Given the description of an element on the screen output the (x, y) to click on. 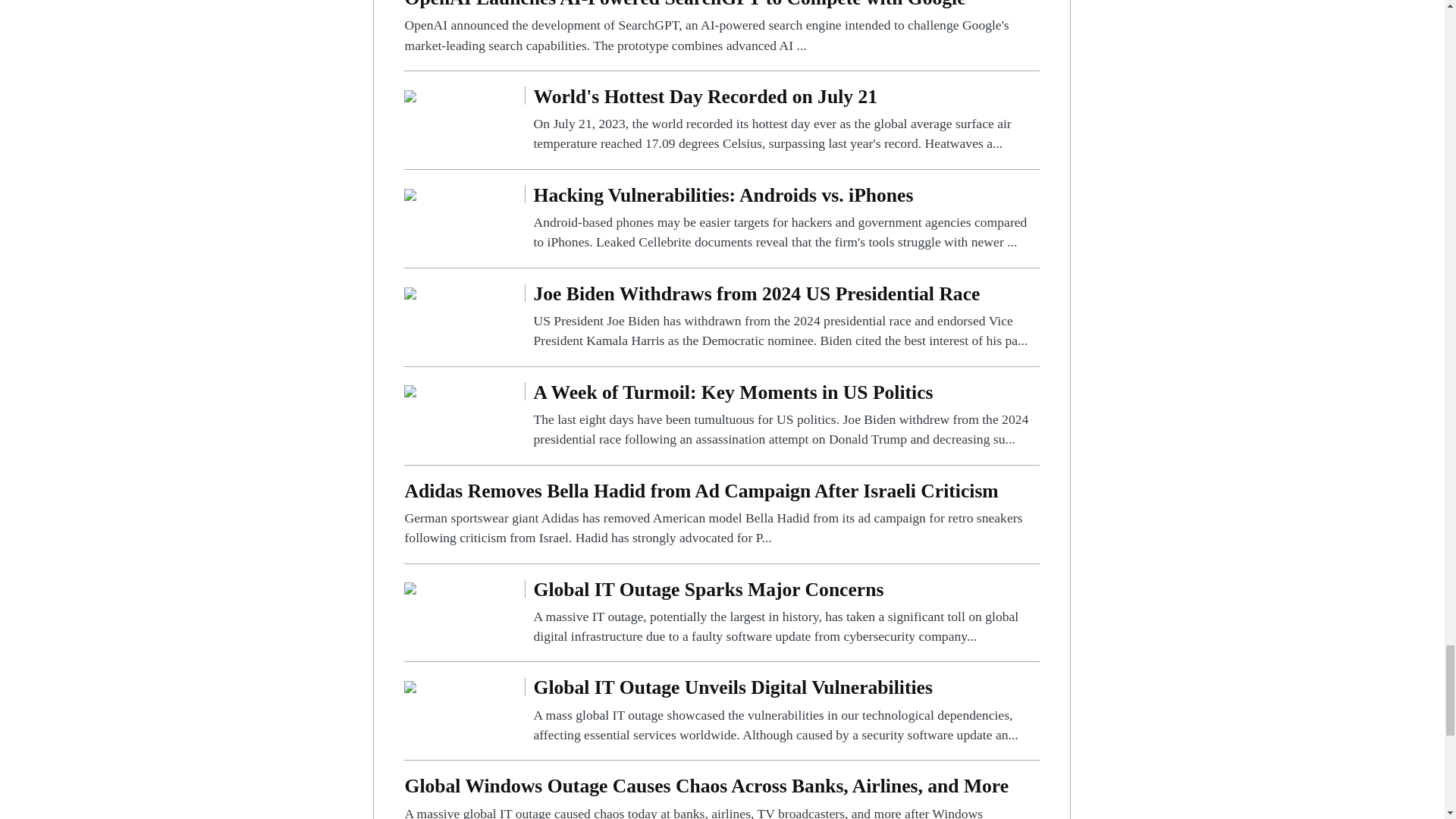
World's Hottest Day Recorded on July 21 (785, 119)
Joe Biden Withdraws from 2024 US Presidential Race (785, 317)
A Week of Turmoil: Key Moments in US Politics (785, 415)
Global IT Outage Sparks Major Concerns (410, 587)
Joe Biden Withdraws from 2024 US Presidential Race (410, 291)
Global IT Outage Unveils Digital Vulnerabilities (785, 710)
Hacking Vulnerabilities: Androids vs. iPhones (785, 218)
OpenAI Launches AI-Powered SearchGPT to Compete with Google (721, 27)
Hacking Vulnerabilities: Androids vs. iPhones (410, 193)
World's Hottest Day Recorded on July 21 (410, 94)
